Given the description of an element on the screen output the (x, y) to click on. 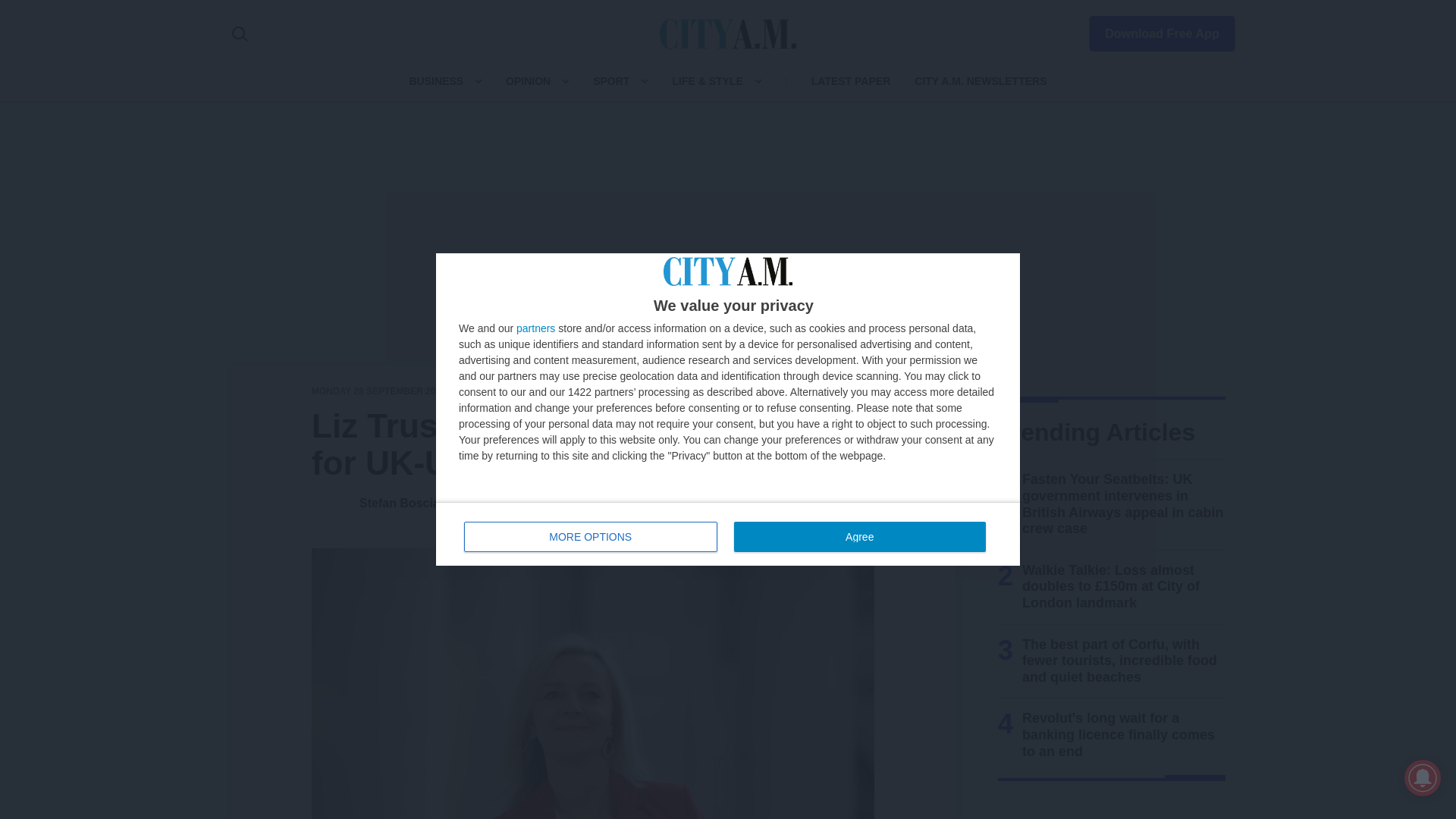
OPINION (527, 80)
BUSINESS (436, 80)
partners (535, 327)
MORE OPTIONS (590, 536)
CityAM (727, 33)
Agree (859, 536)
Download Free App (727, 533)
